Given the description of an element on the screen output the (x, y) to click on. 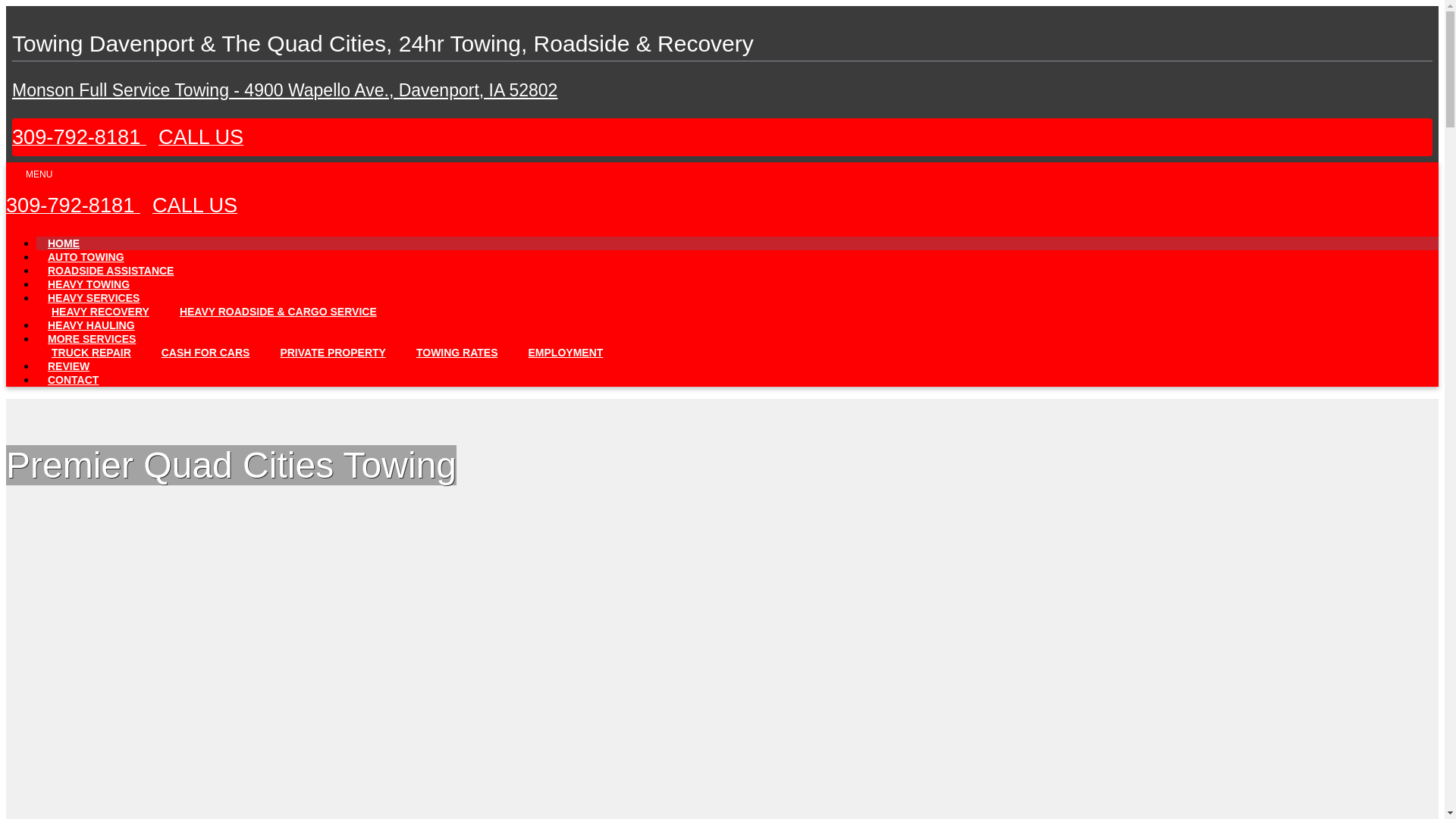
TRUCK REPAIR (91, 352)
CONTACT (73, 379)
REVIEW (68, 365)
HEAVY RECOVERY (100, 311)
AUTO TOWING (85, 256)
HEAVY HAULING (91, 324)
ROADSIDE ASSISTANCE (110, 270)
HEAVY TOWING (88, 283)
CASH FOR CARS (205, 352)
HOME (63, 242)
